Given the description of an element on the screen output the (x, y) to click on. 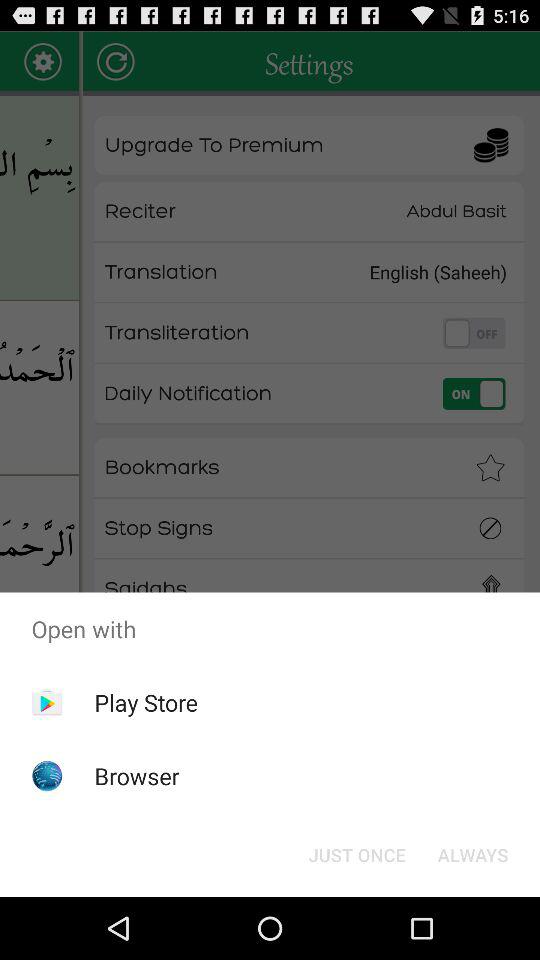
open the item to the left of always button (356, 854)
